Given the description of an element on the screen output the (x, y) to click on. 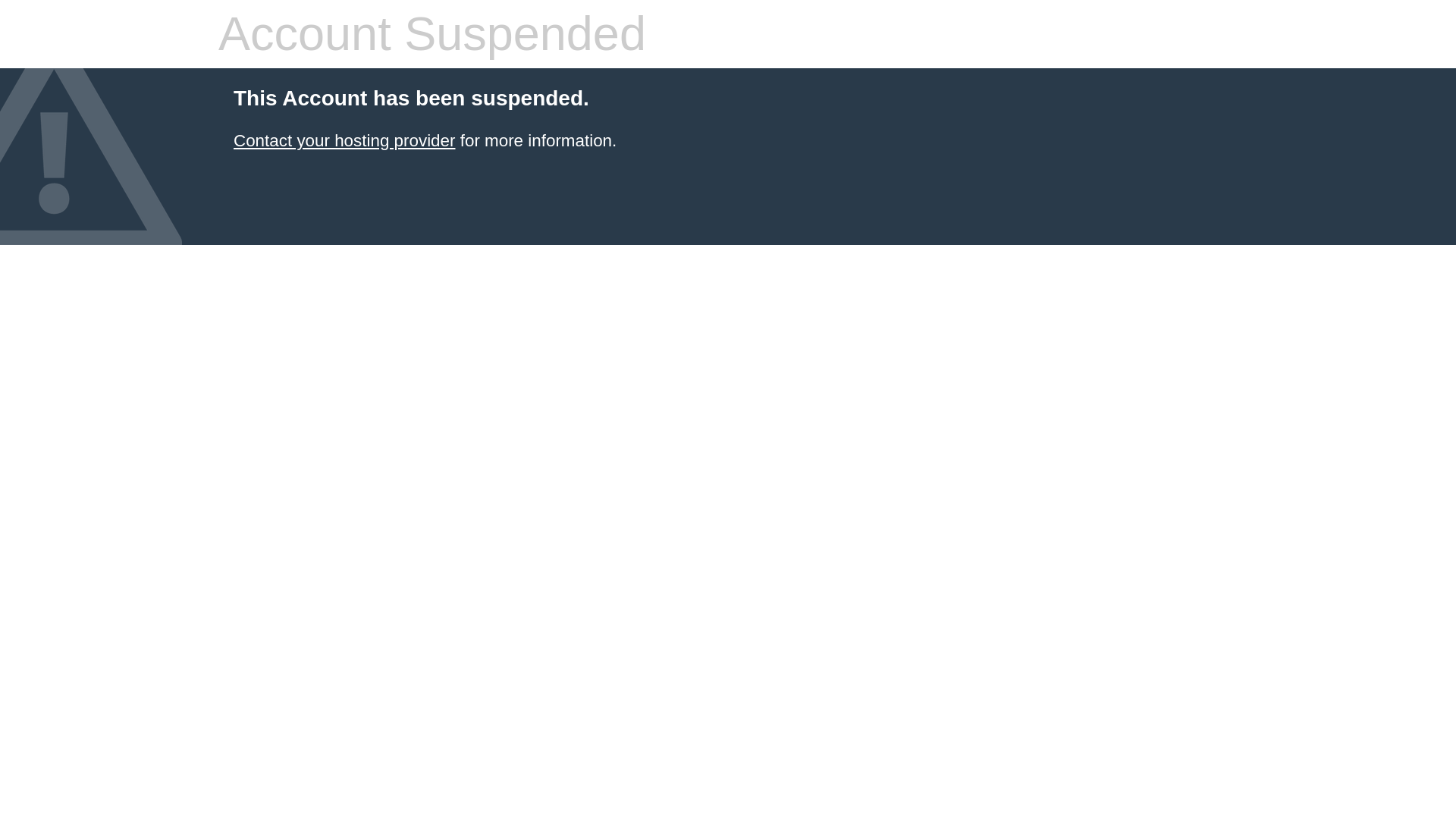
Contact your hosting provider (343, 140)
